Given the description of an element on the screen output the (x, y) to click on. 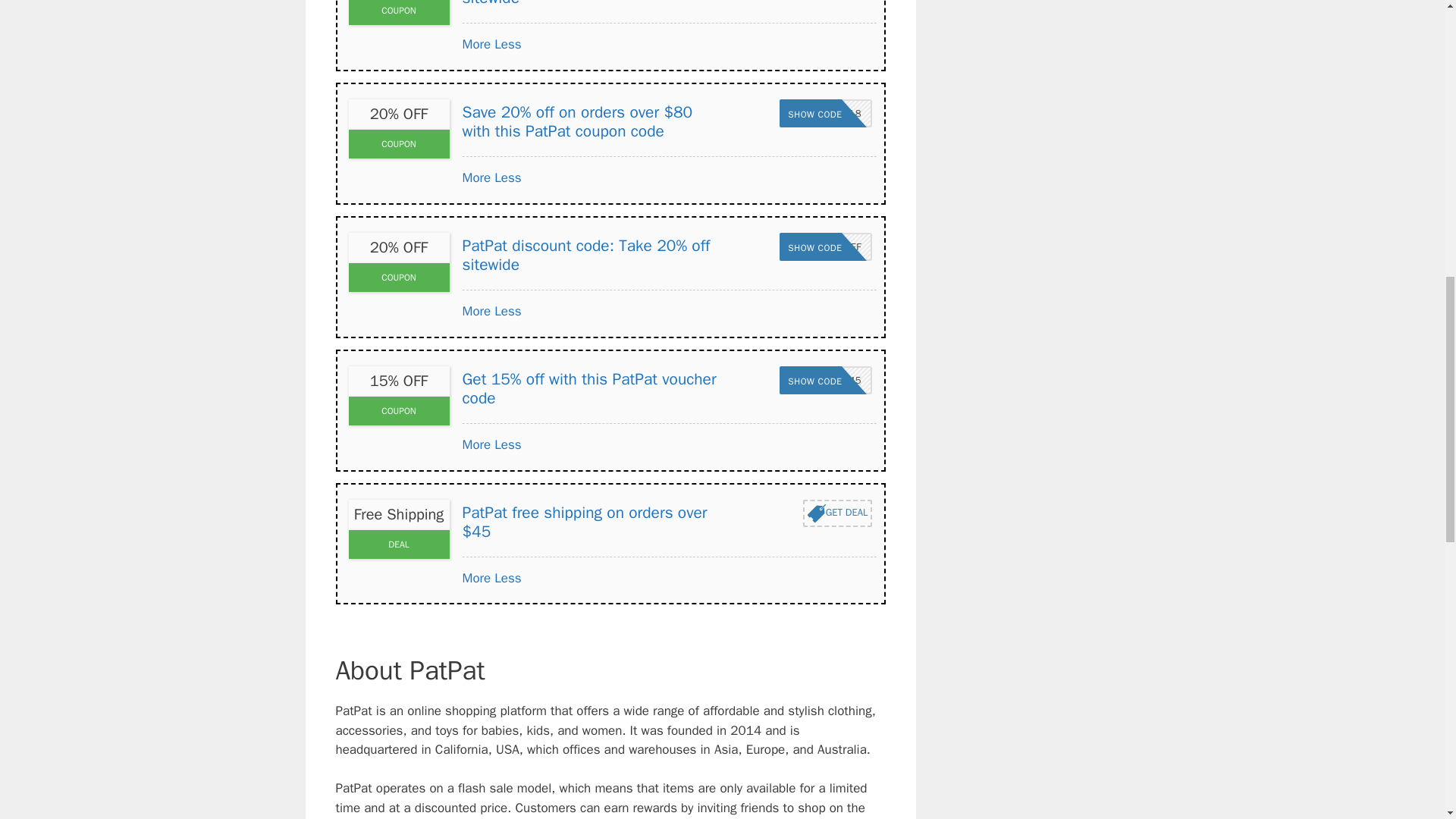
Less (825, 246)
Click Here to Show Code (508, 44)
GET DEAL (825, 246)
Less (837, 513)
More (508, 177)
More (477, 444)
More (477, 311)
More (477, 177)
Click Here to Show Code (477, 44)
